Given the description of an element on the screen output the (x, y) to click on. 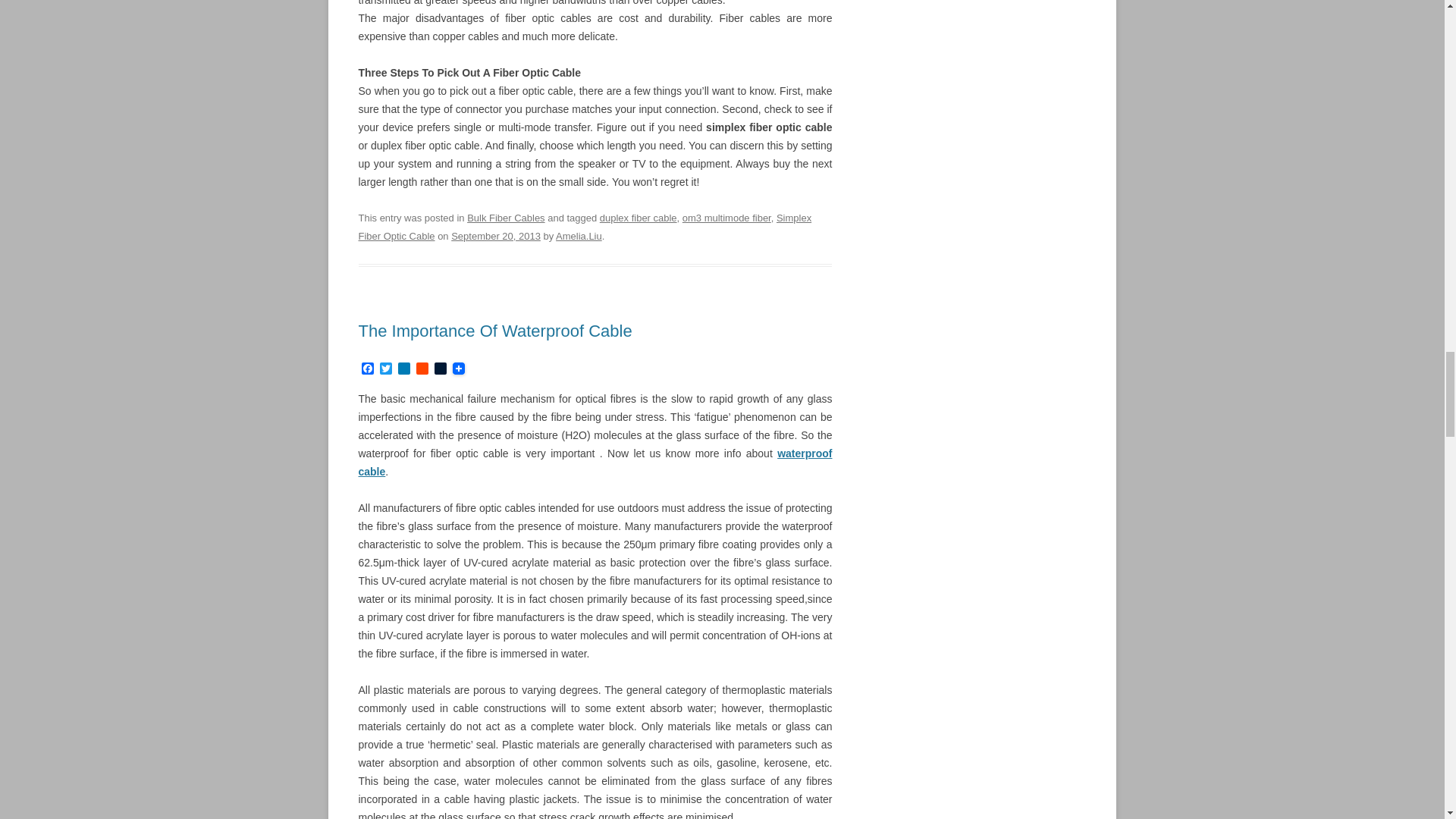
9:51 am (495, 235)
